Given the description of an element on the screen output the (x, y) to click on. 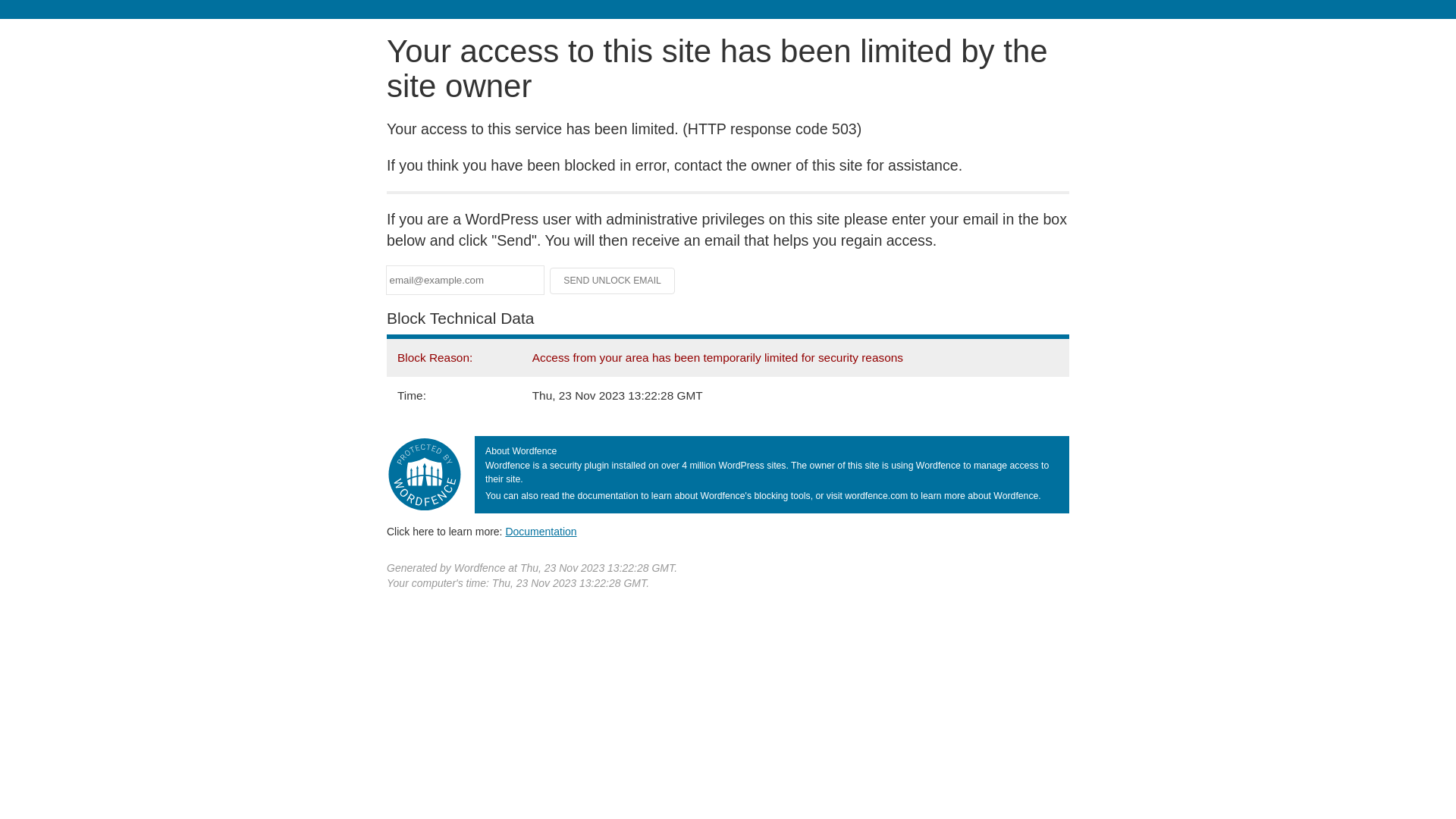
Documentation
(opens in new tab) Element type: text (540, 531)
Send Unlock Email Element type: text (612, 280)
